Given the description of an element on the screen output the (x, y) to click on. 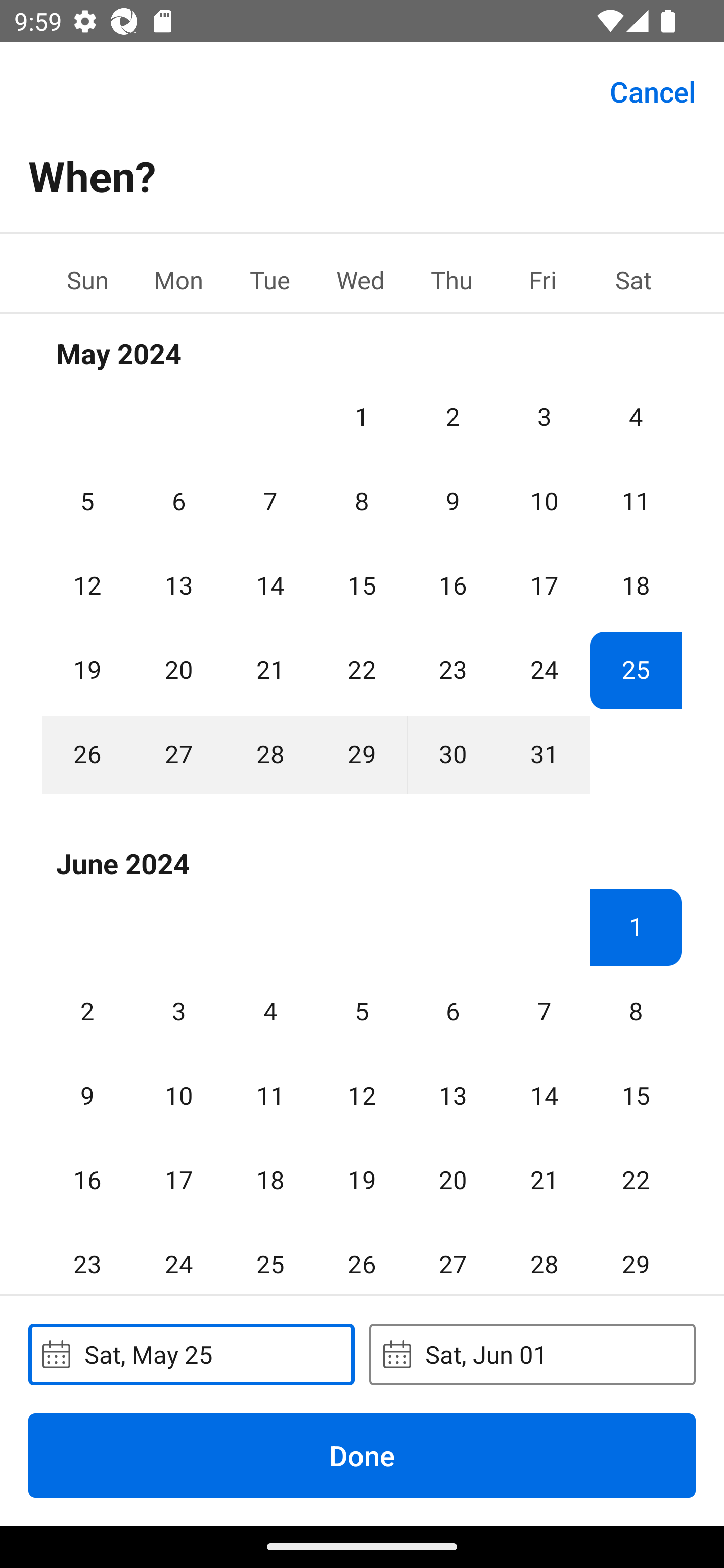
Cancel (652, 90)
Sat, May 25 (191, 1353)
Sat, Jun 01 (532, 1353)
Done (361, 1454)
